Given the description of an element on the screen output the (x, y) to click on. 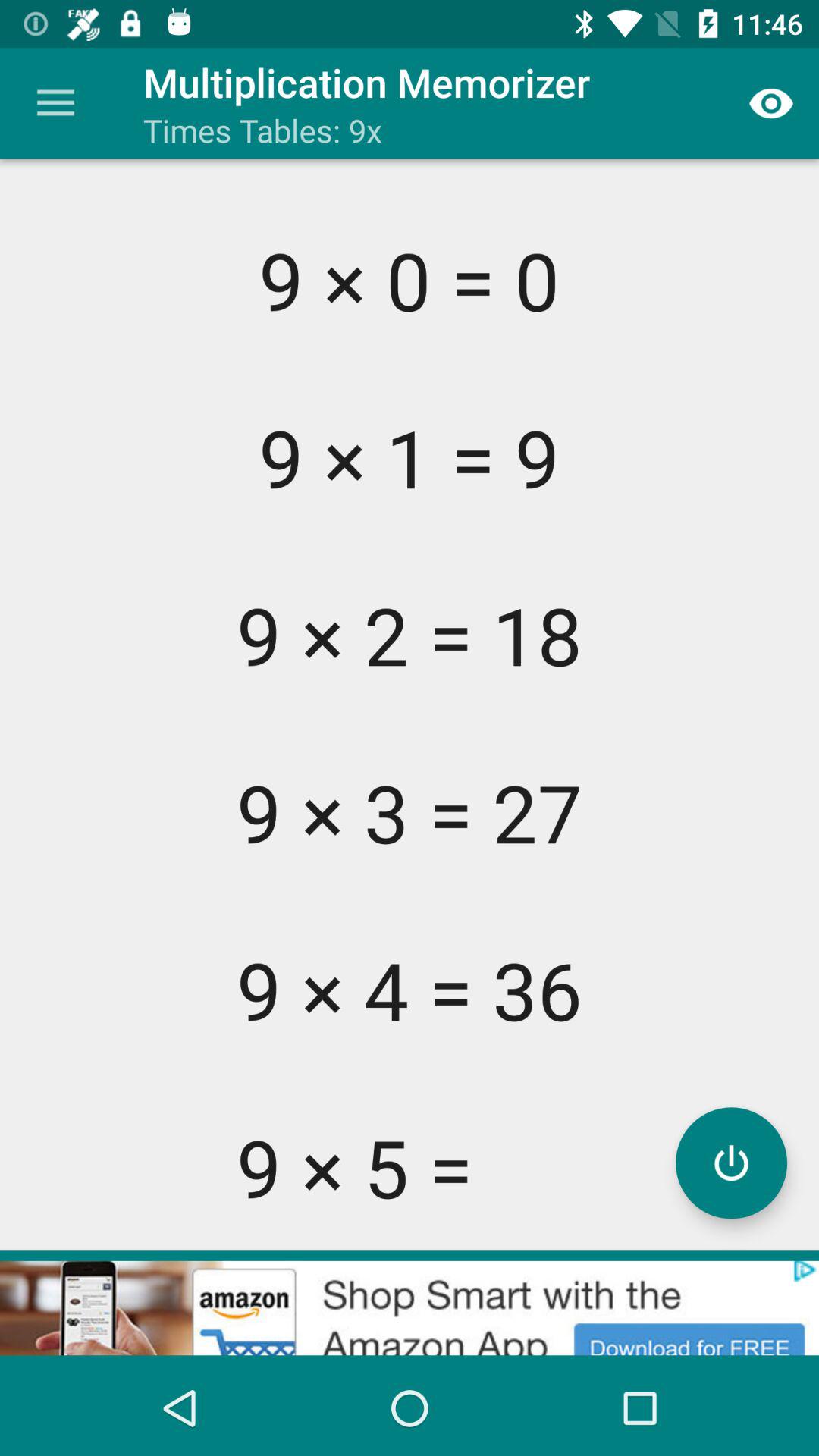
power button (731, 1162)
